Given the description of an element on the screen output the (x, y) to click on. 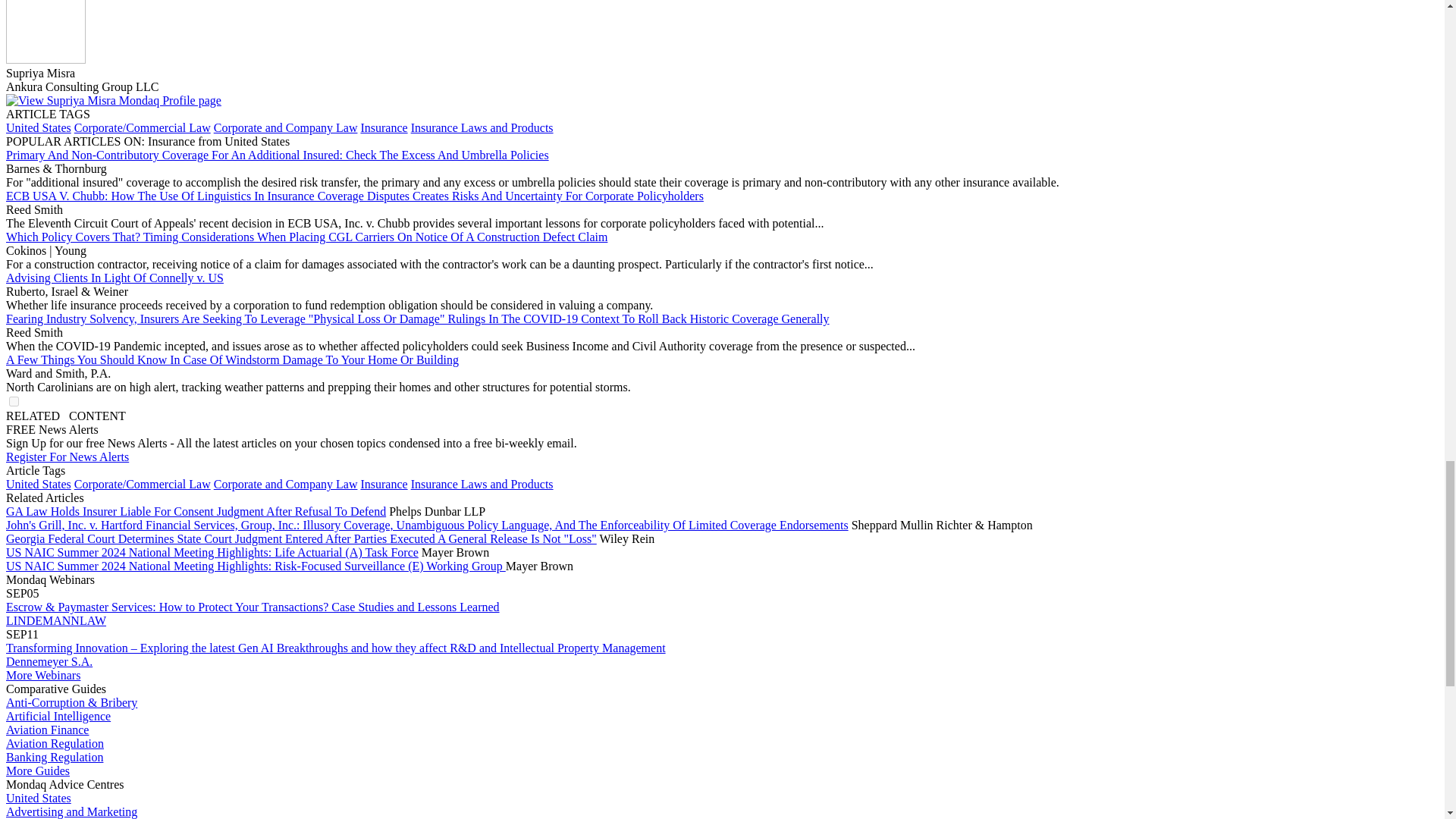
on (13, 401)
More from Supriya  Misra (113, 100)
Page tools slideout (65, 415)
Corporate and Company Law (286, 127)
Insurance Laws and Products (481, 127)
United States (38, 127)
Insurance (383, 127)
